Given the description of an element on the screen output the (x, y) to click on. 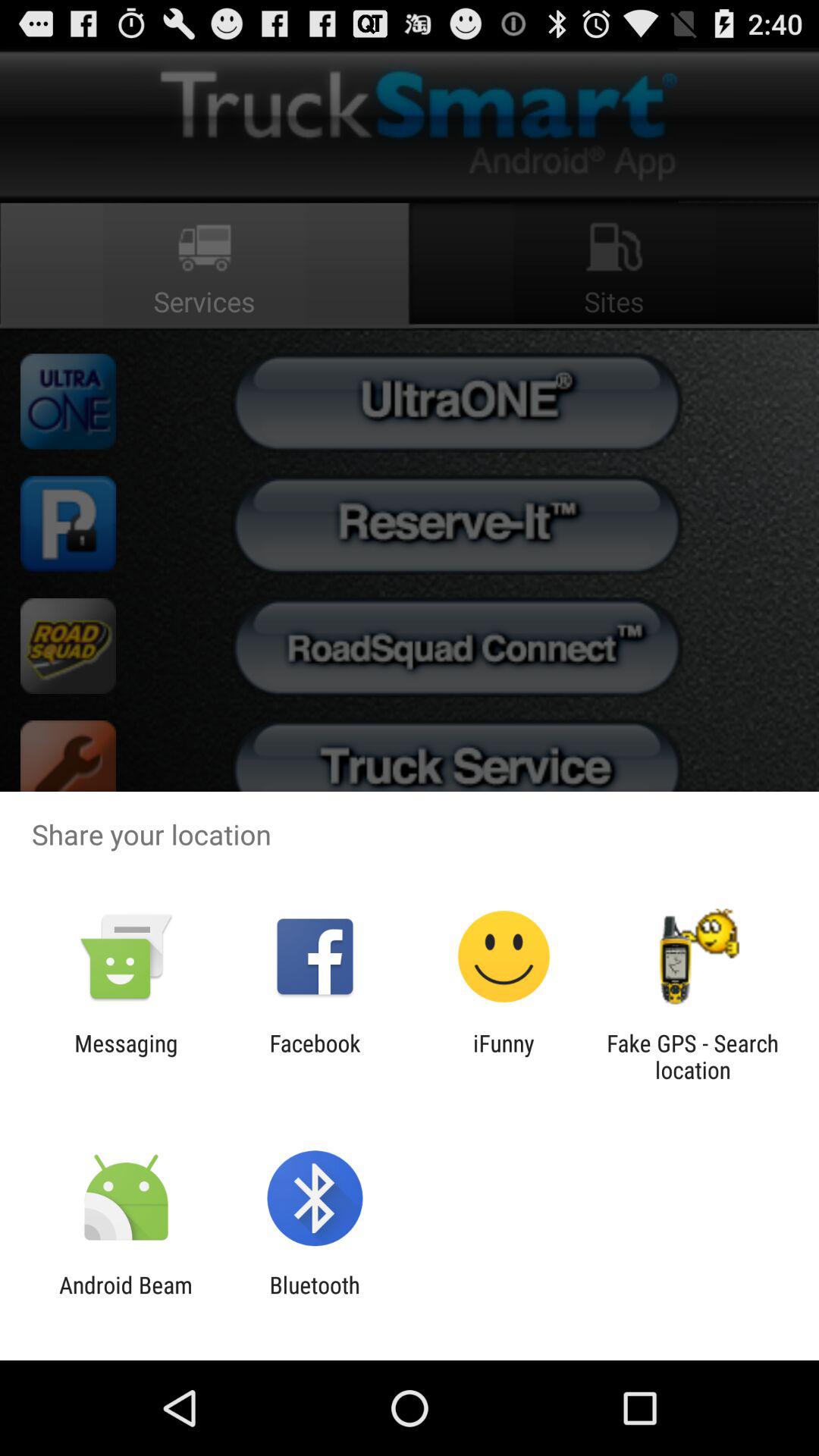
select app next to the facebook icon (126, 1056)
